Given the description of an element on the screen output the (x, y) to click on. 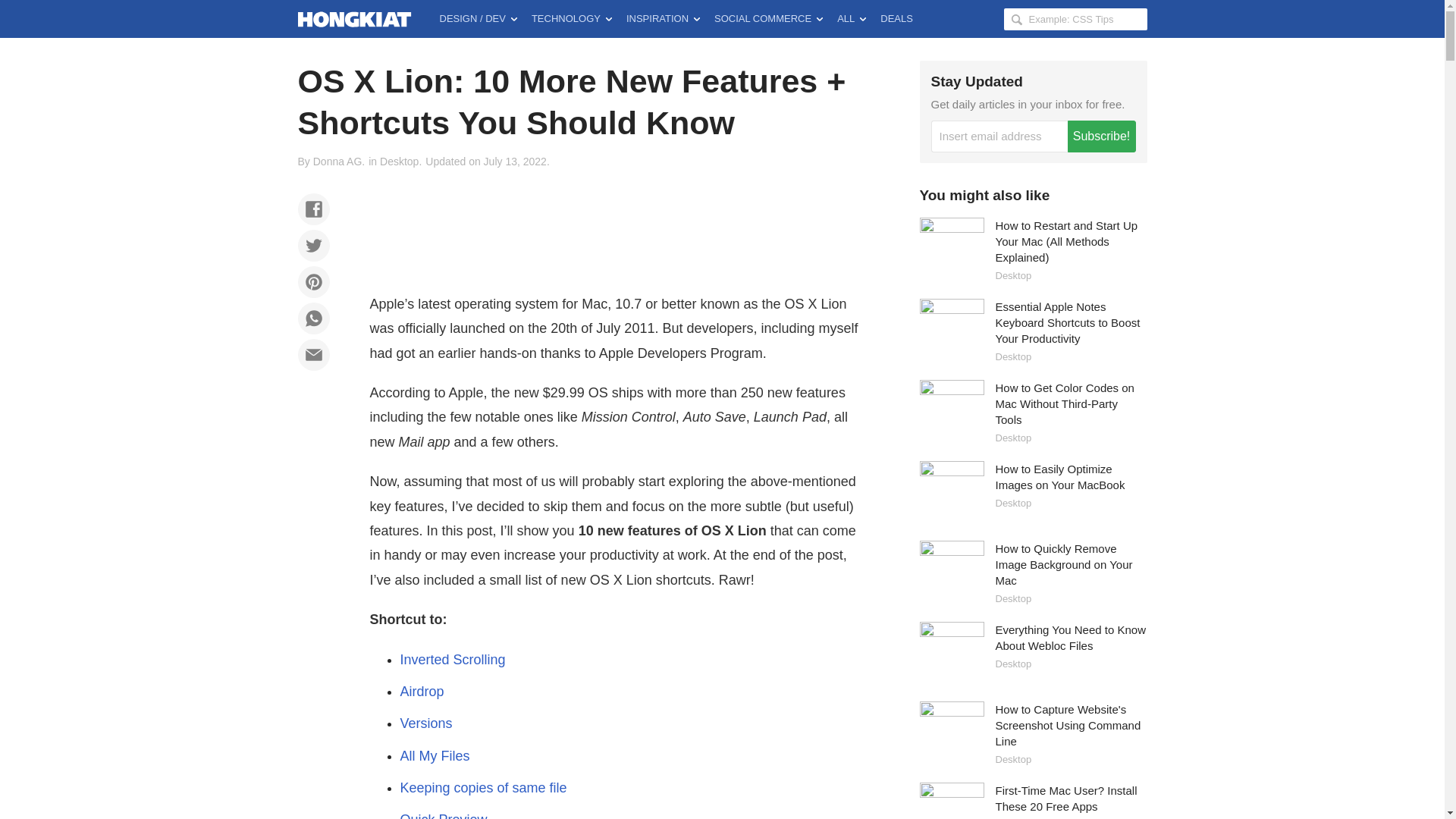
INSPIRATION (662, 18)
Quick Preview (443, 815)
TECHNOLOGY (571, 18)
All My Files (435, 755)
SOCIAL COMMERCE (767, 18)
Donna AG (337, 161)
Keeping copies of same file (483, 787)
Inverted Scrolling (452, 659)
Airdrop (422, 691)
Desktop (399, 161)
DEALS (896, 18)
Search Hongkiat for (1075, 18)
Versions (426, 723)
